Given the description of an element on the screen output the (x, y) to click on. 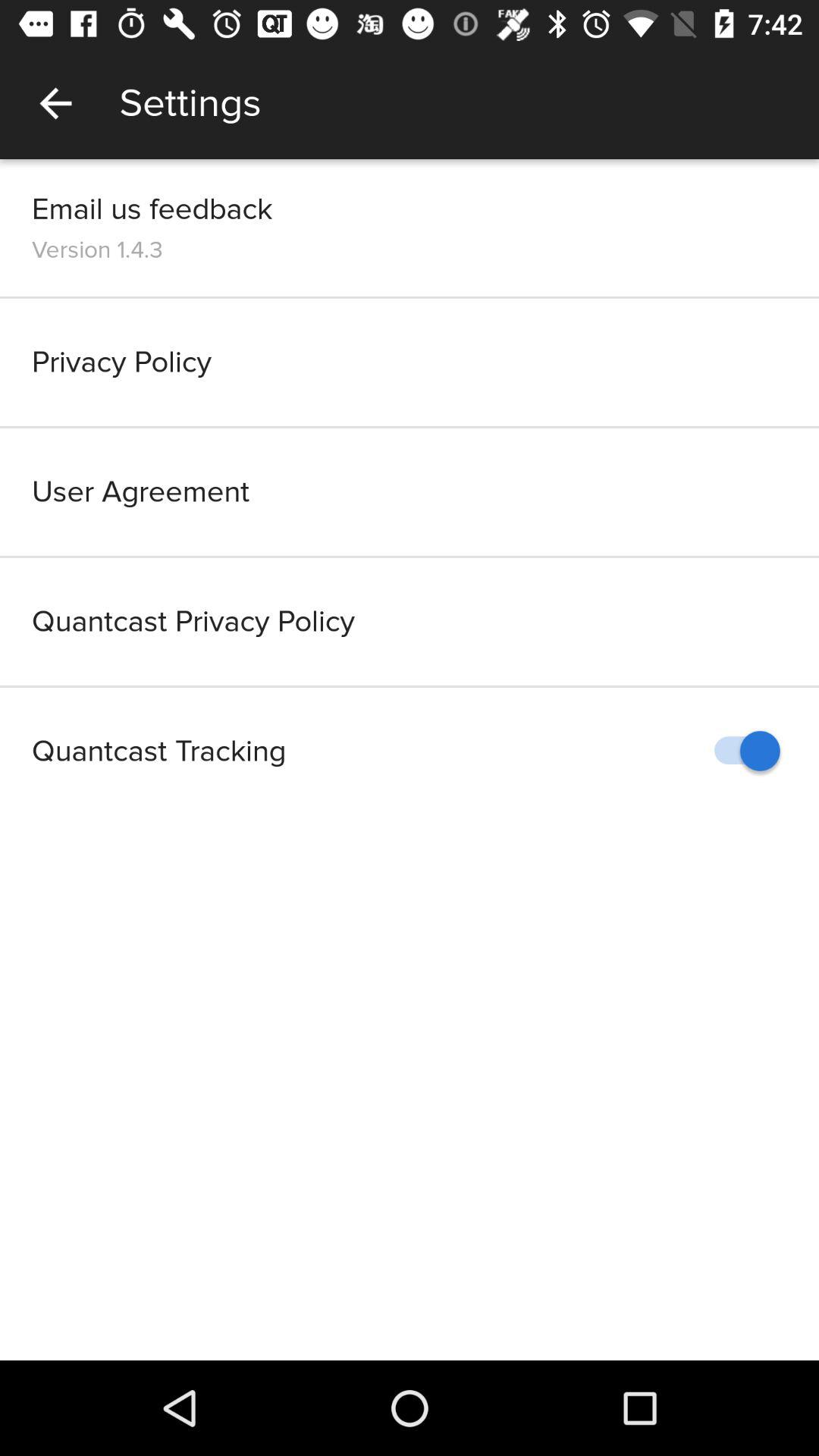
click the icon above email us feedback item (55, 103)
